Given the description of an element on the screen output the (x, y) to click on. 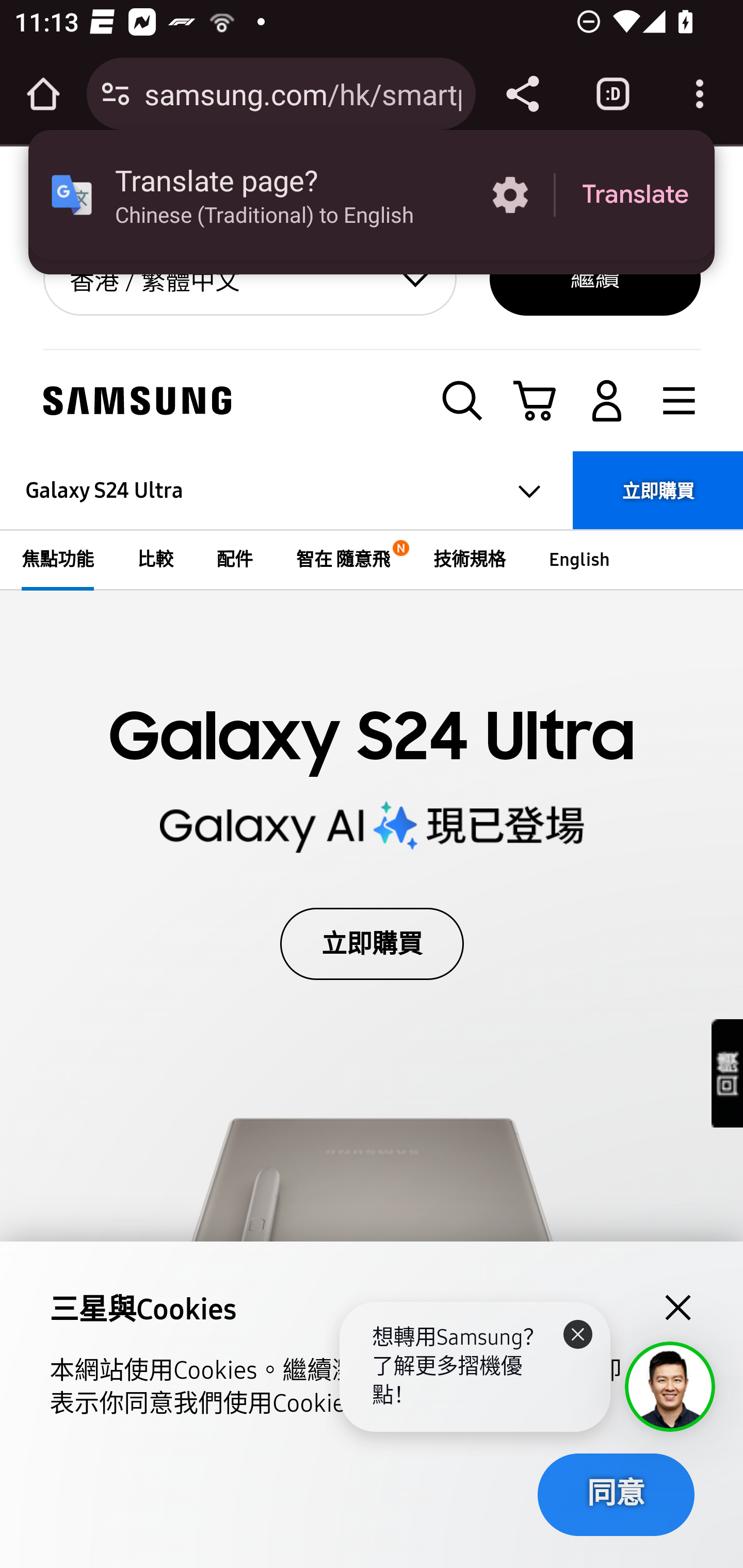
Open the home page (43, 93)
Connection is secure (115, 93)
Share (522, 93)
Switch or close tabs (612, 93)
Customize and control Google Chrome (699, 93)
Translate (634, 195)
OK (634, 209)
More options in the Translate page? (509, 195)
Search (462, 402)
Cart (534, 402)
登入/註冊 (607, 402)
Navigation (679, 402)
Samsung (136, 401)
Galaxy S24 Ultra (287, 490)
立即購買 (656, 490)
焦點功能 (57, 558)
比較 (155, 558)
配件 (234, 558)
智在 隨意飛 (343, 558)
技術規格 (469, 558)
English (579, 558)
立即購買 (371, 943)
回饋 (727, 1072)
close (676, 1307)
Open chat (670, 1386)
同意 (615, 1493)
